Given the description of an element on the screen output the (x, y) to click on. 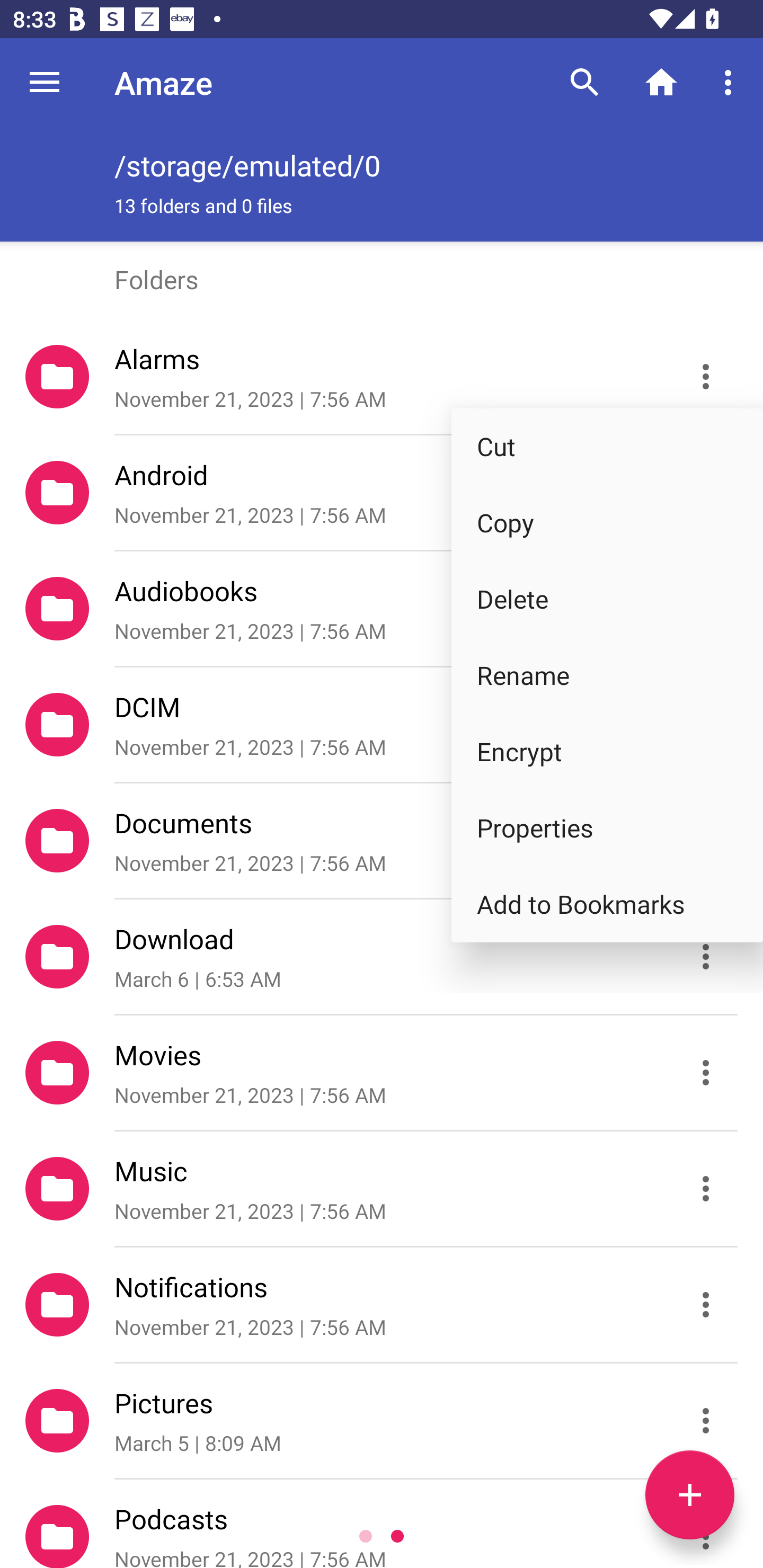
Cut (607, 445)
Copy (607, 522)
Delete (607, 598)
Rename (607, 674)
Encrypt (607, 751)
Properties (607, 827)
Add to Bookmarks (607, 903)
